Given the description of an element on the screen output the (x, y) to click on. 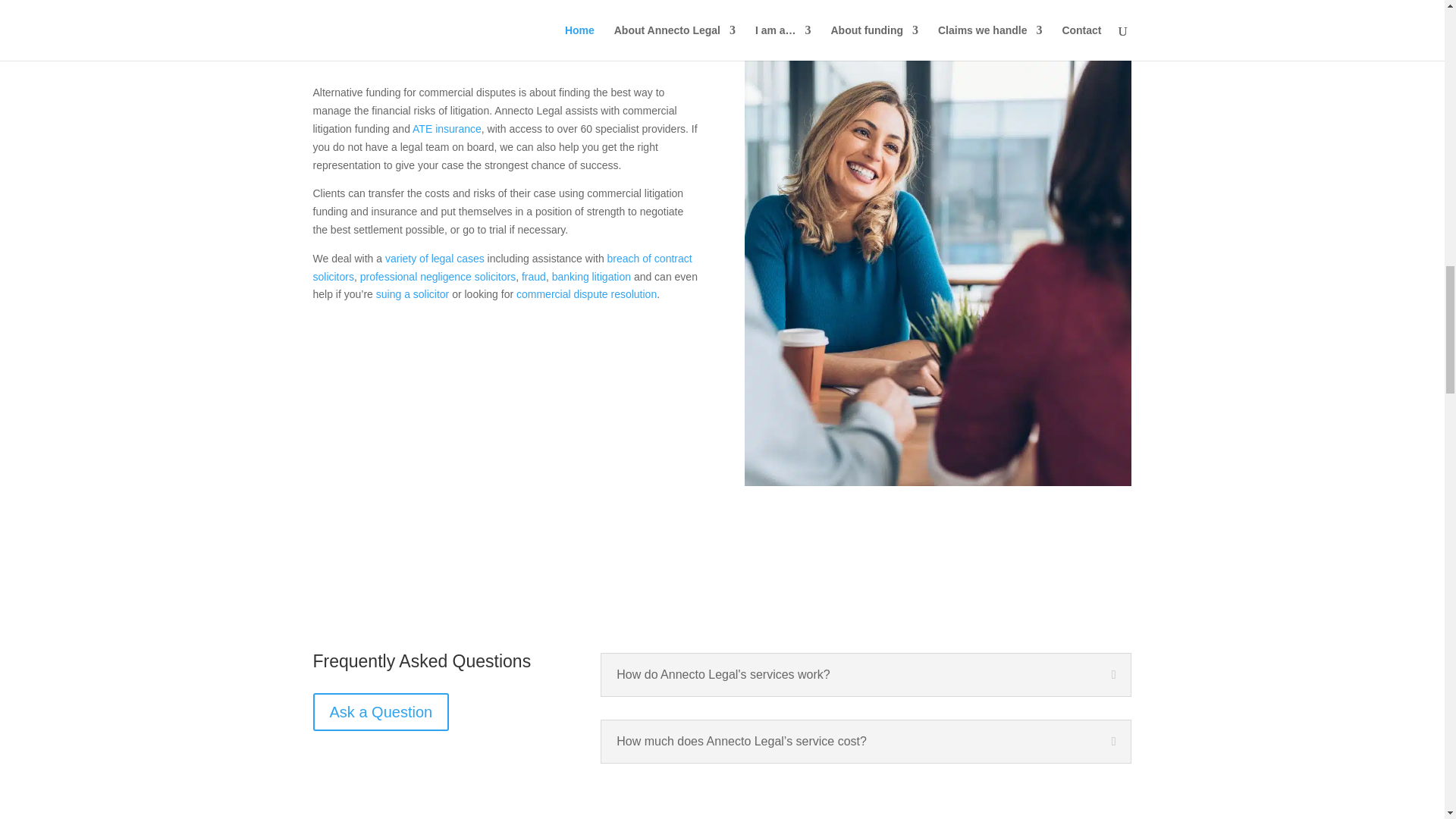
Suing a solicitor (412, 294)
Commercial dispute resolution (586, 294)
Banking litigation and insurance claims disputes (590, 275)
